Given the description of an element on the screen output the (x, y) to click on. 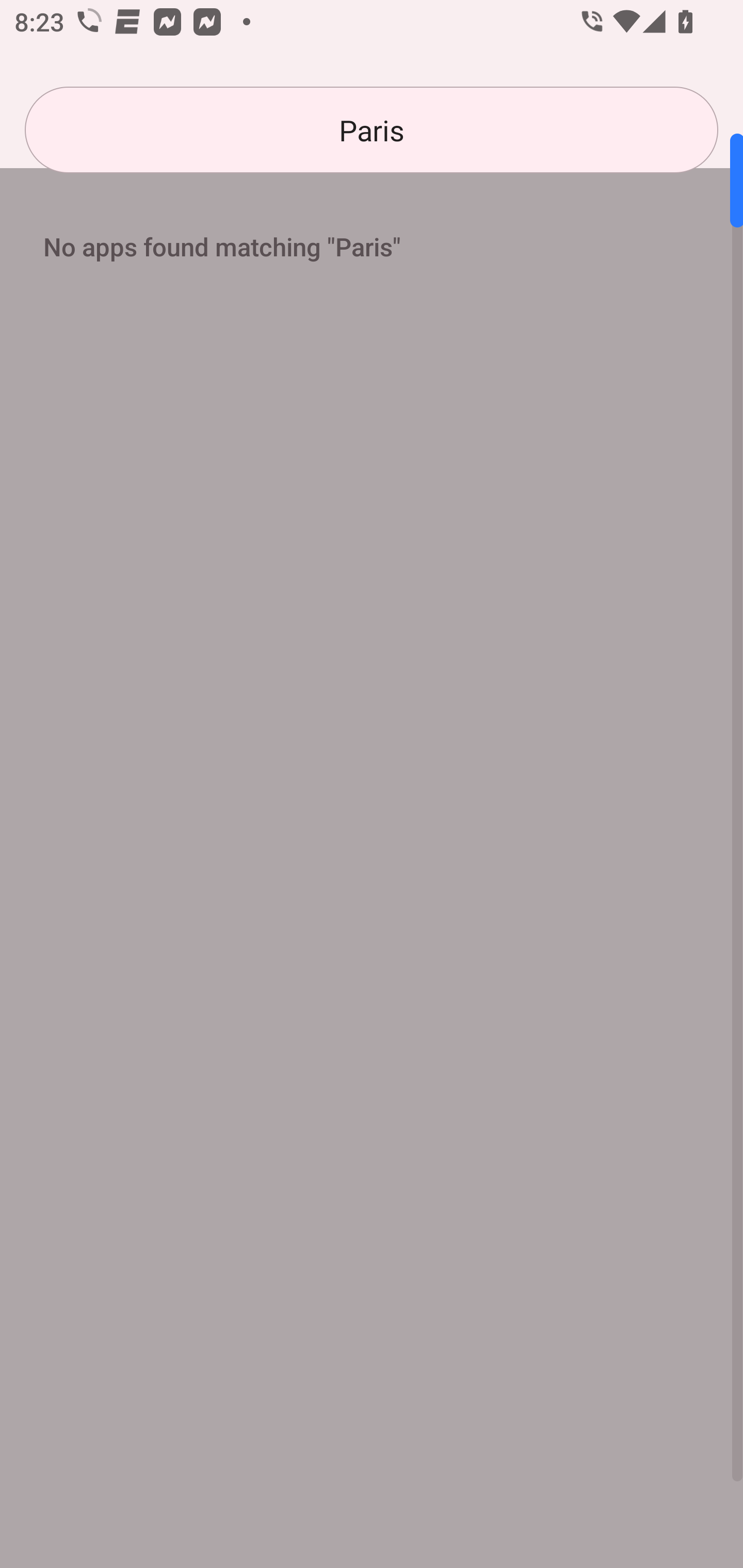
Paris (371, 130)
